Given the description of an element on the screen output the (x, y) to click on. 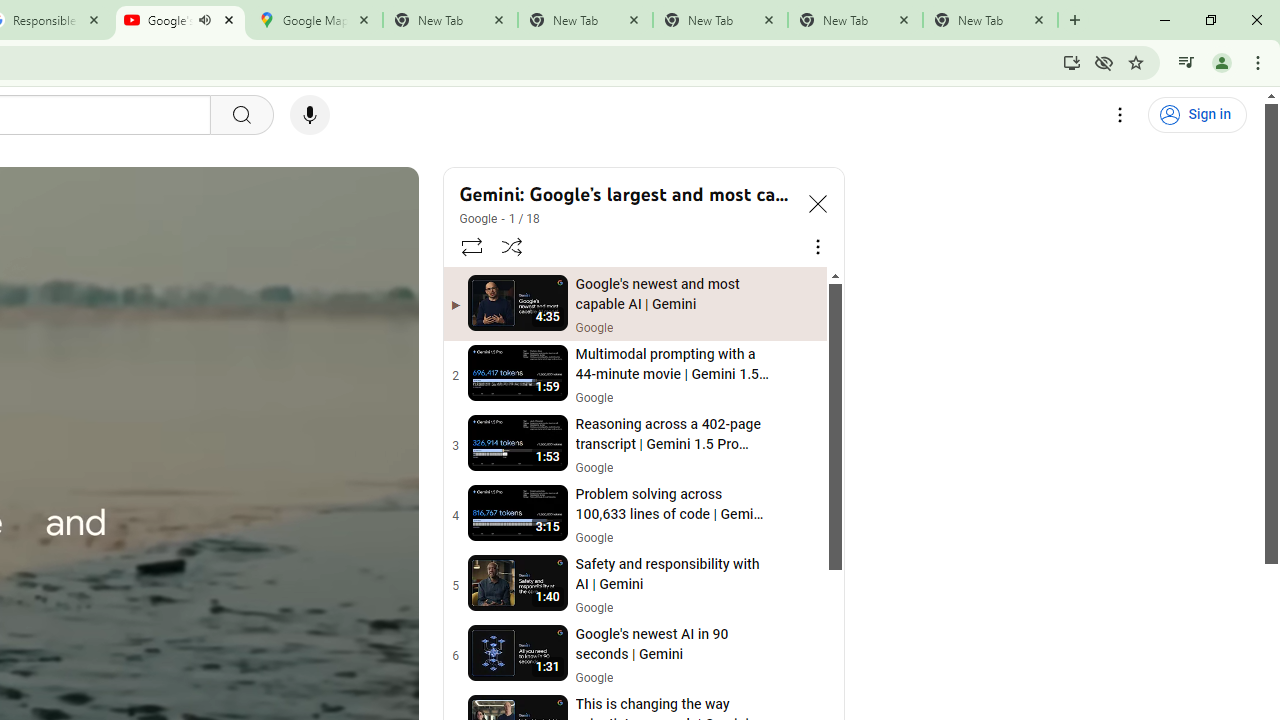
Google Maps (315, 20)
Collapse (817, 202)
Loop playlist (470, 246)
